Given the description of an element on the screen output the (x, y) to click on. 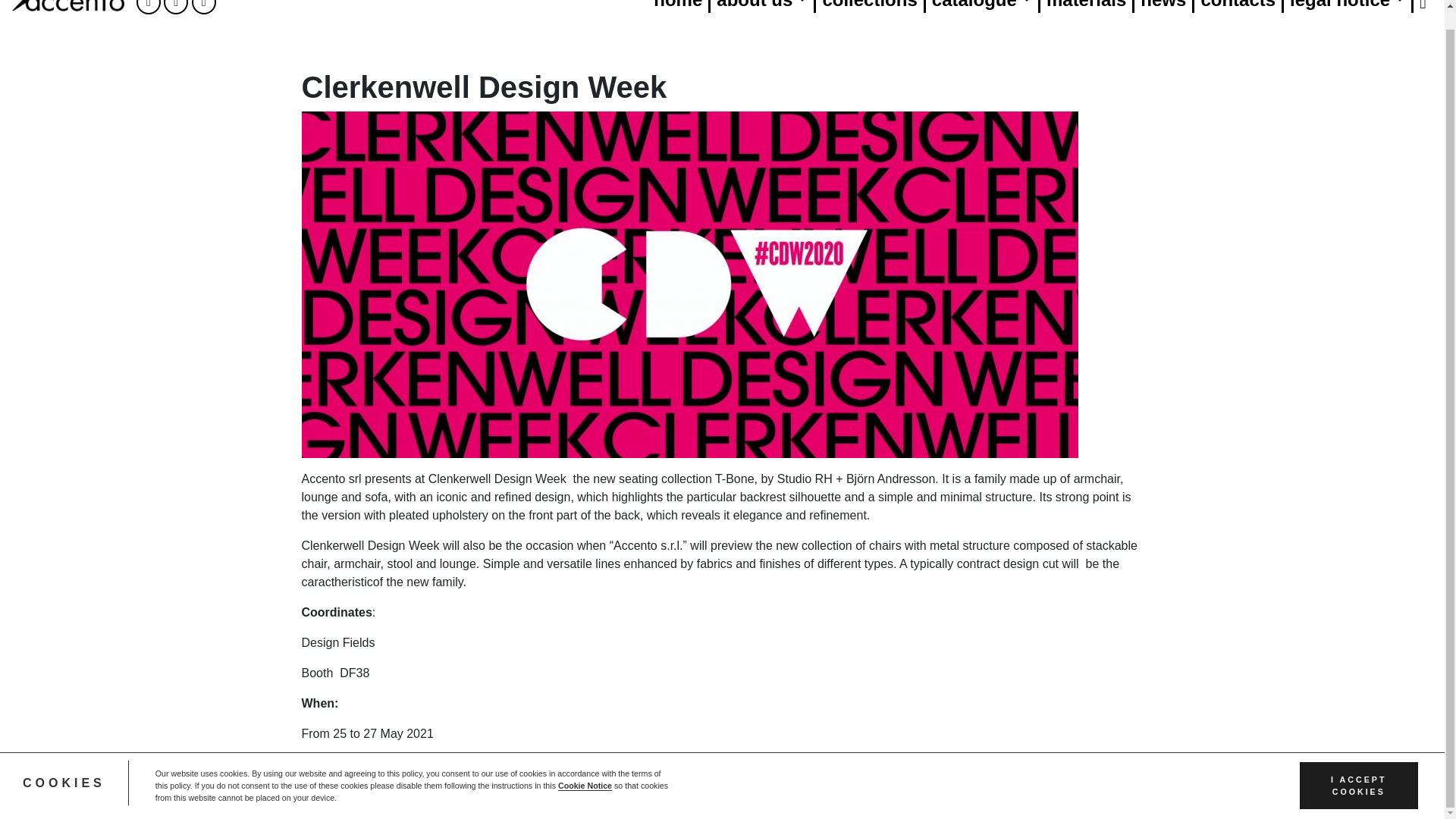
materials (1087, 6)
Home (678, 6)
Collections (869, 6)
Catalogue (983, 6)
legal notice (1348, 6)
Materials (1087, 6)
about us (762, 6)
I ACCEPT COOKIES (1359, 766)
Cookie Notice (584, 767)
Contacts (1238, 6)
